Given the description of an element on the screen output the (x, y) to click on. 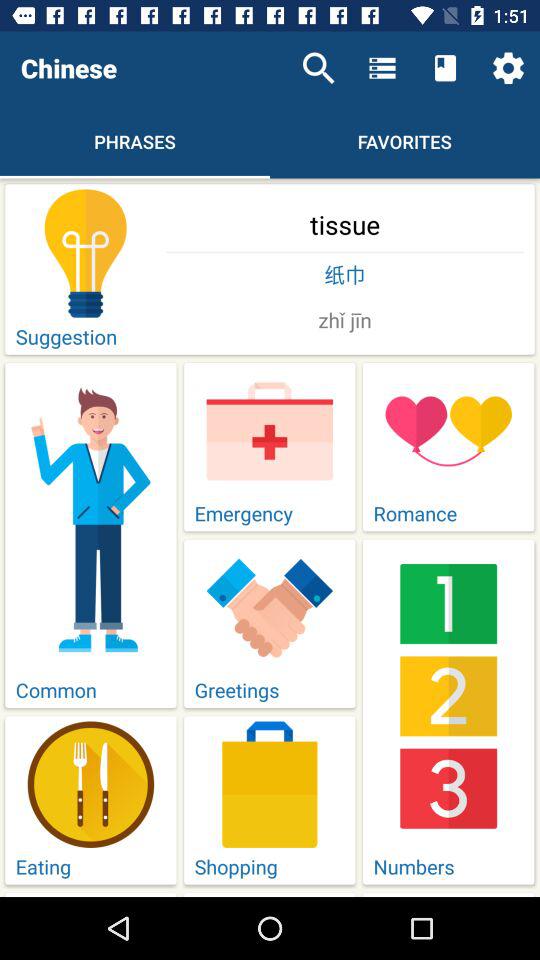
launch icon to the right of chinese icon (318, 67)
